Given the description of an element on the screen output the (x, y) to click on. 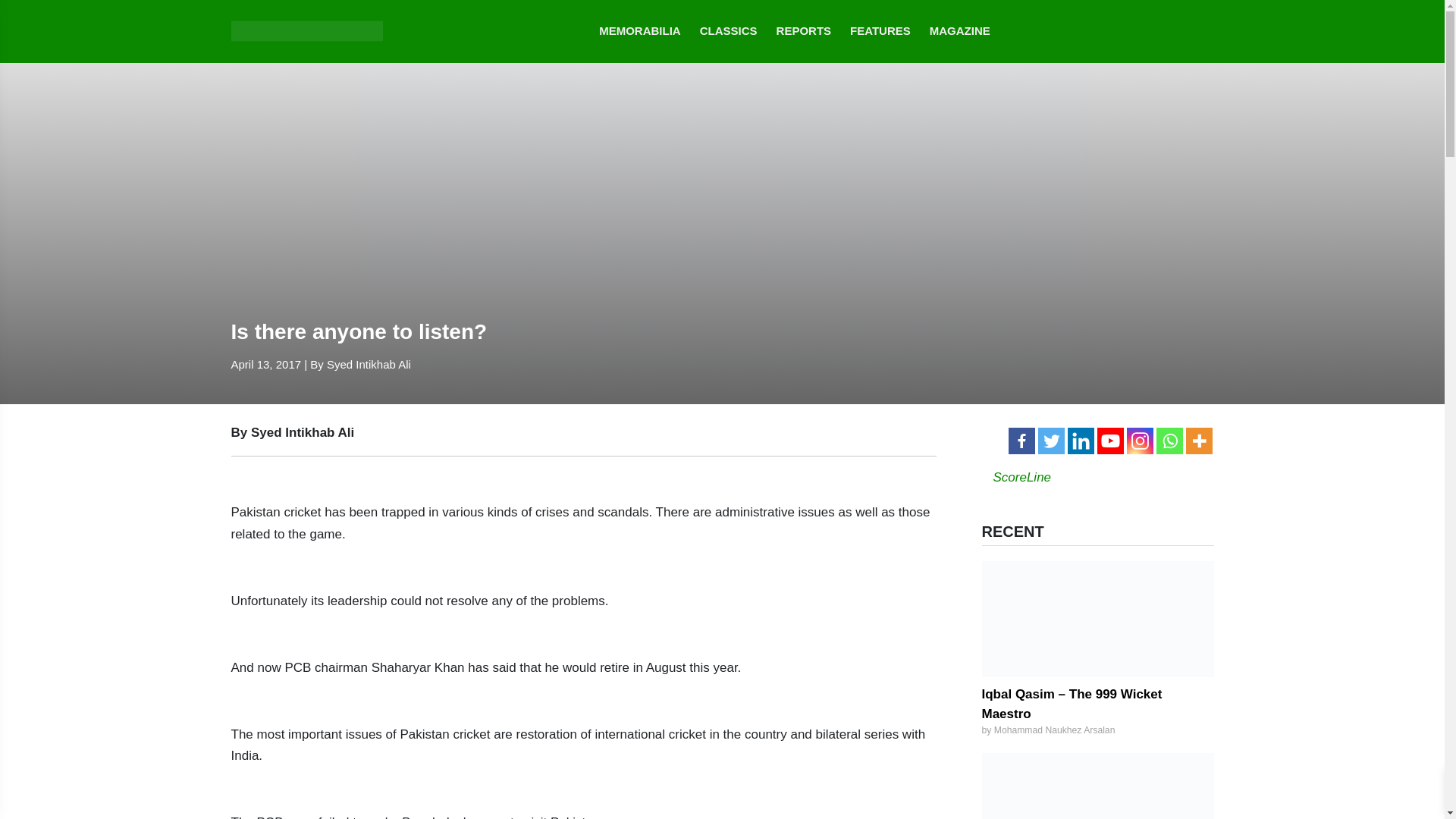
Magazine (960, 31)
MEMORABILIA (639, 31)
FEATURES (880, 31)
Twitter (1050, 440)
ScoreLine (1021, 477)
Classics (728, 31)
MAGAZINE (960, 31)
Syed Intikhab Ali (368, 364)
CLASSICS (728, 31)
Features (880, 31)
Posts by Syed Intikhab Ali (368, 364)
Memorabilia (639, 31)
Facebook (1022, 440)
